Given the description of an element on the screen output the (x, y) to click on. 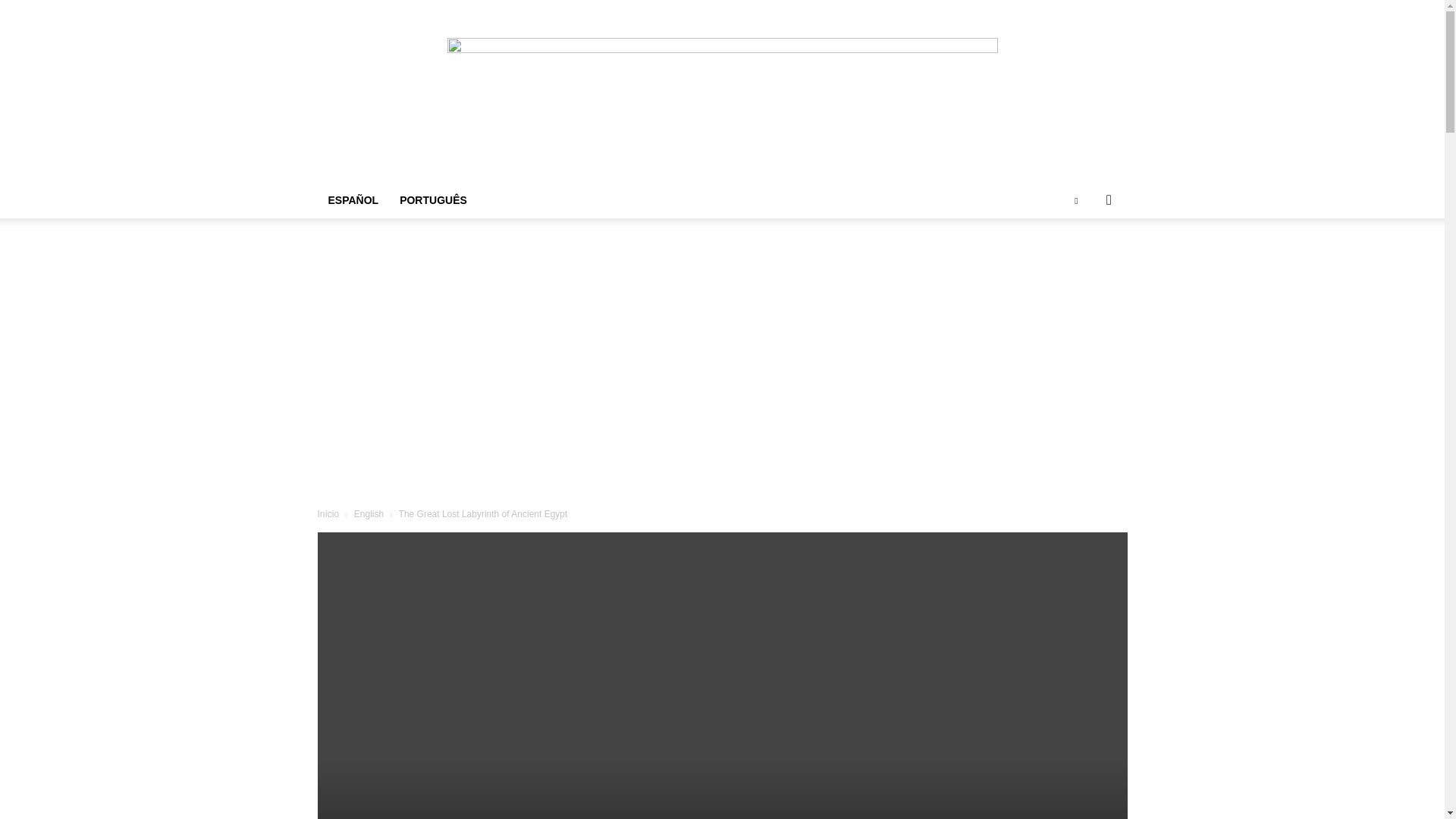
Ancient Aliens (721, 90)
Ver todos os artigos em English (368, 513)
Buscar (1085, 260)
English (368, 513)
